Given the description of an element on the screen output the (x, y) to click on. 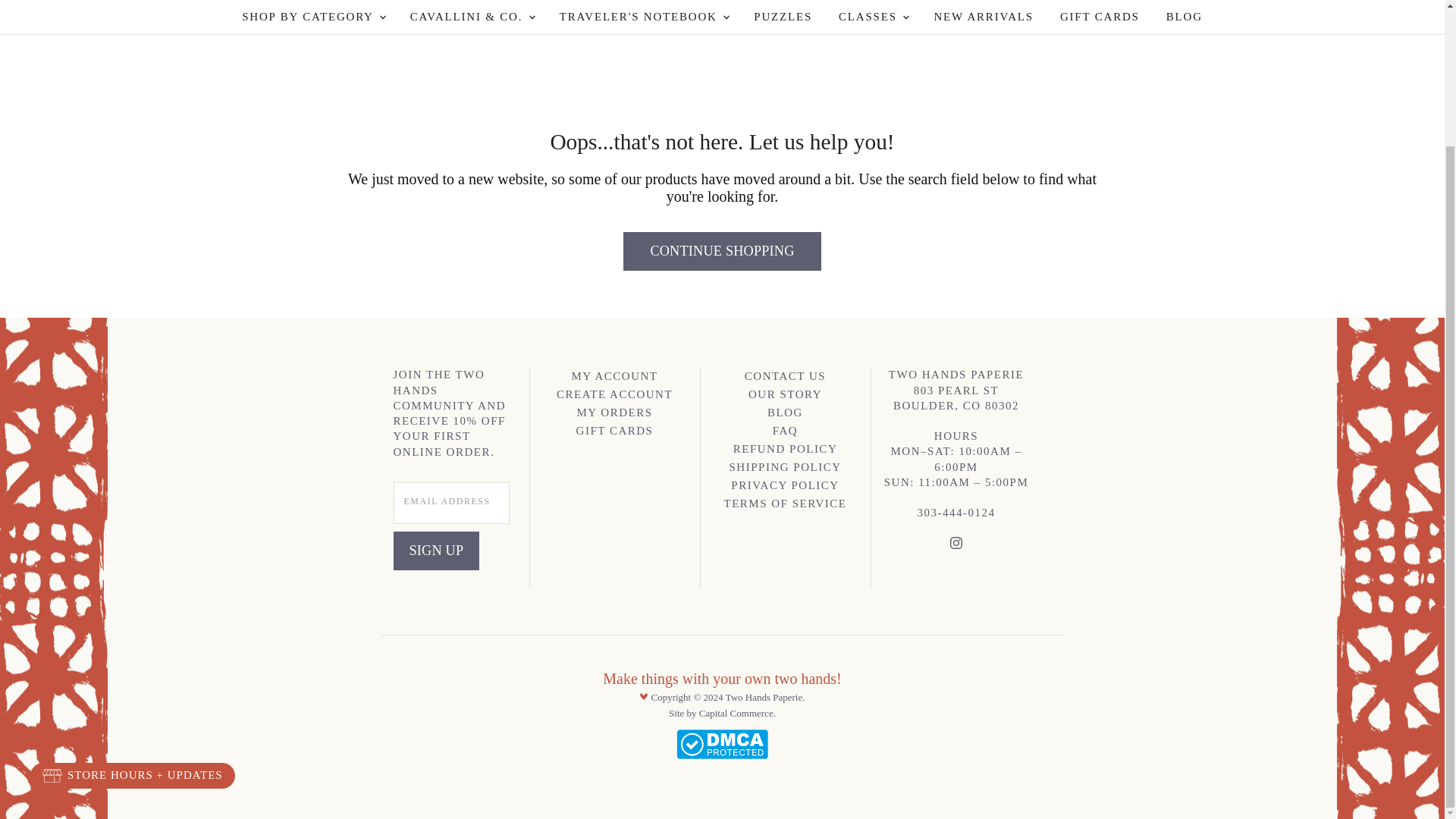
SHOP BY CATEGORY (312, 17)
DMCA.com Protection Status (722, 755)
Instagram (955, 545)
